Given the description of an element on the screen output the (x, y) to click on. 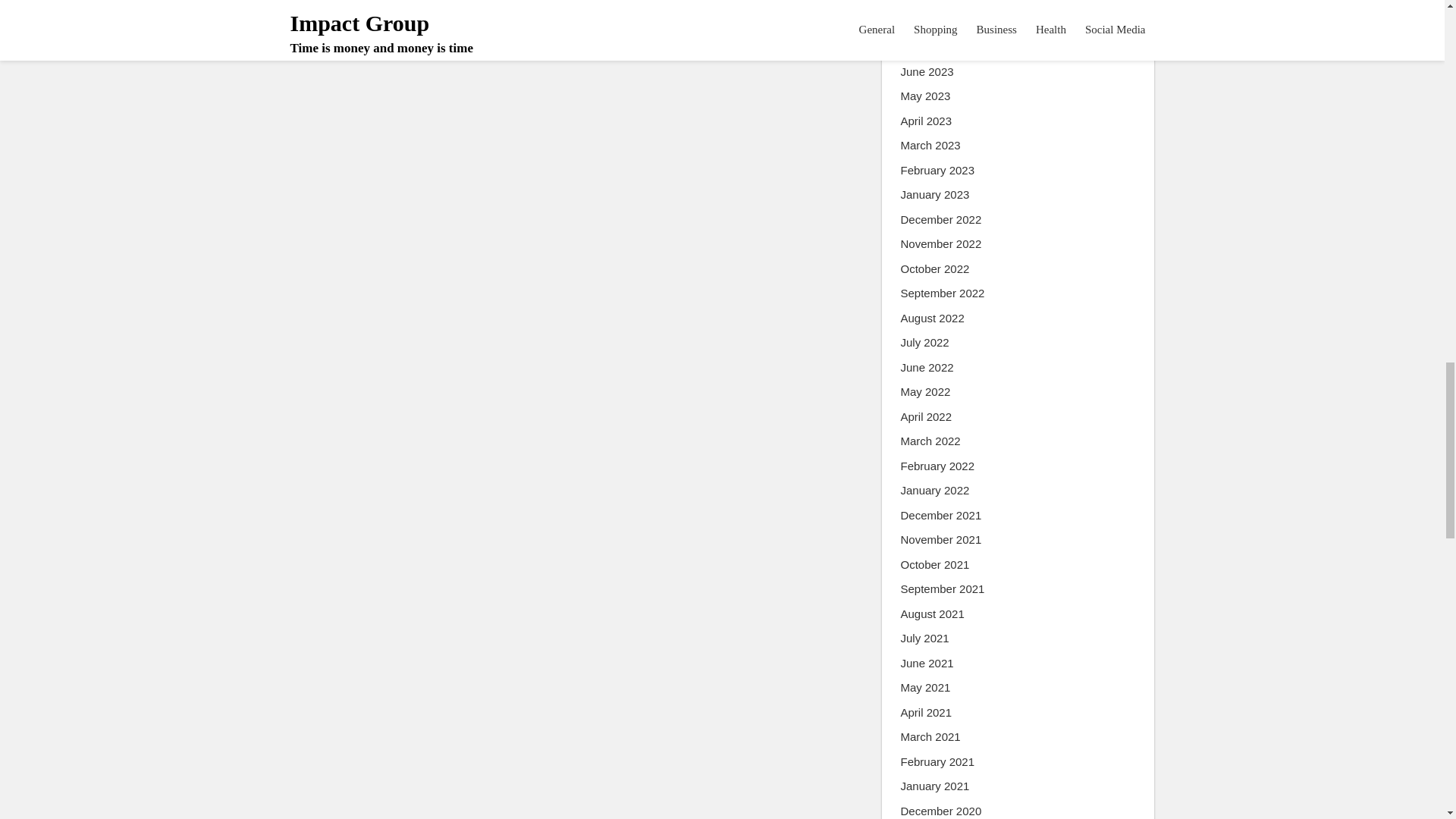
August 2023 (932, 22)
July 2023 (925, 47)
April 2023 (926, 121)
February 2023 (938, 170)
March 2023 (930, 145)
May 2023 (925, 96)
June 2023 (927, 72)
September 2023 (943, 3)
